Given the description of an element on the screen output the (x, y) to click on. 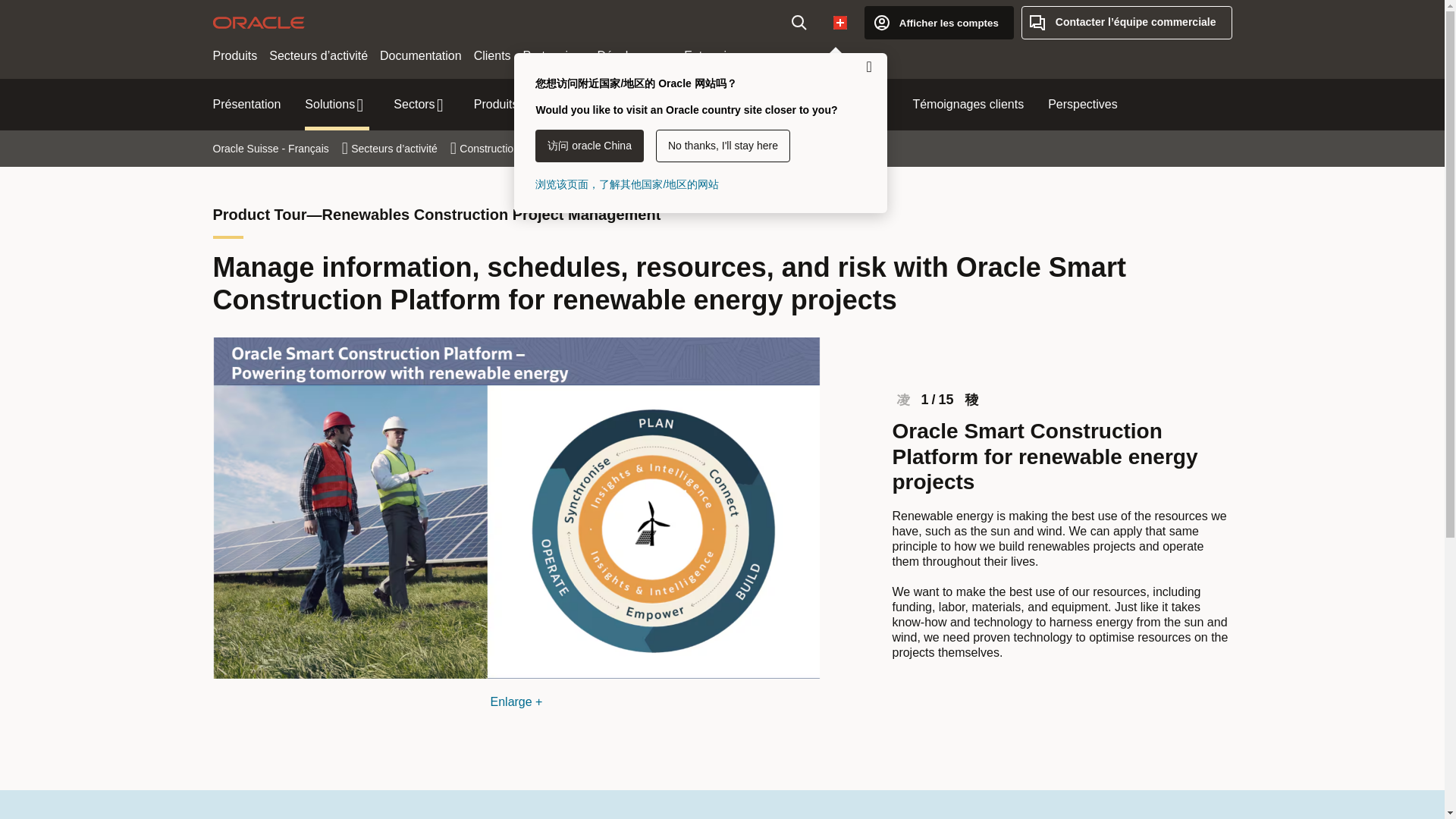
Produits (234, 55)
Partenaires (553, 55)
No thanks, I'll stay here (723, 145)
Afficher les comptes (938, 22)
Country (840, 22)
Clients (491, 55)
Documentation (420, 55)
Entreprise (711, 55)
